Given the description of an element on the screen output the (x, y) to click on. 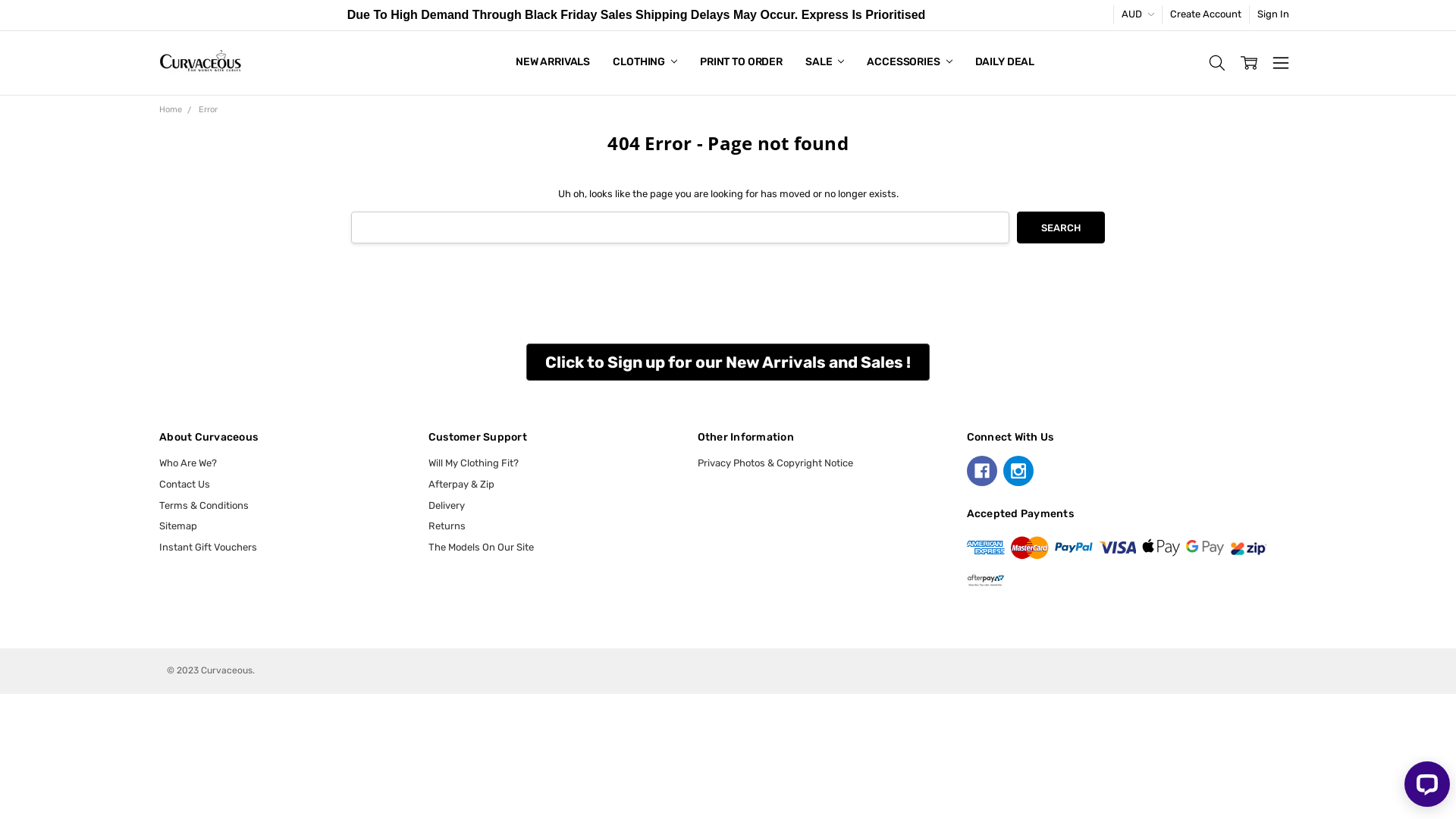
Afterpay & Zip Element type: text (461, 483)
PRINT TO ORDER Element type: text (740, 62)
Error Element type: text (207, 109)
CLOTHING Element type: text (644, 62)
Will My Clothing Fit? Element type: text (473, 462)
Privacy Photos & Copyright Notice Element type: text (775, 462)
The Models On Our Site Element type: text (480, 546)
Who Are We? Element type: text (187, 462)
SALE Element type: text (824, 62)
Contact Us Element type: text (184, 483)
AUD Element type: text (1137, 14)
Returns Element type: text (446, 525)
Search Element type: text (1060, 227)
Click to Sign up for our New Arrivals and Sales ! Element type: text (727, 362)
Delivery Element type: text (446, 505)
Sign In Element type: text (1272, 14)
ACCESSORIES Element type: text (909, 62)
DAILY DEAL Element type: text (1004, 62)
Show All Element type: hover (523, 62)
Sitemap Element type: text (178, 525)
THE MODELS ON CURVACEOUS WEBSITE Element type: text (616, 62)
Instant Gift Vouchers Element type: text (208, 546)
Terms & Conditions Element type: text (203, 505)
Create Account Element type: text (1205, 14)
Home Element type: text (170, 109)
Curvaceous Element type: hover (200, 62)
NEW ARRIVALS Element type: text (552, 62)
